Given the description of an element on the screen output the (x, y) to click on. 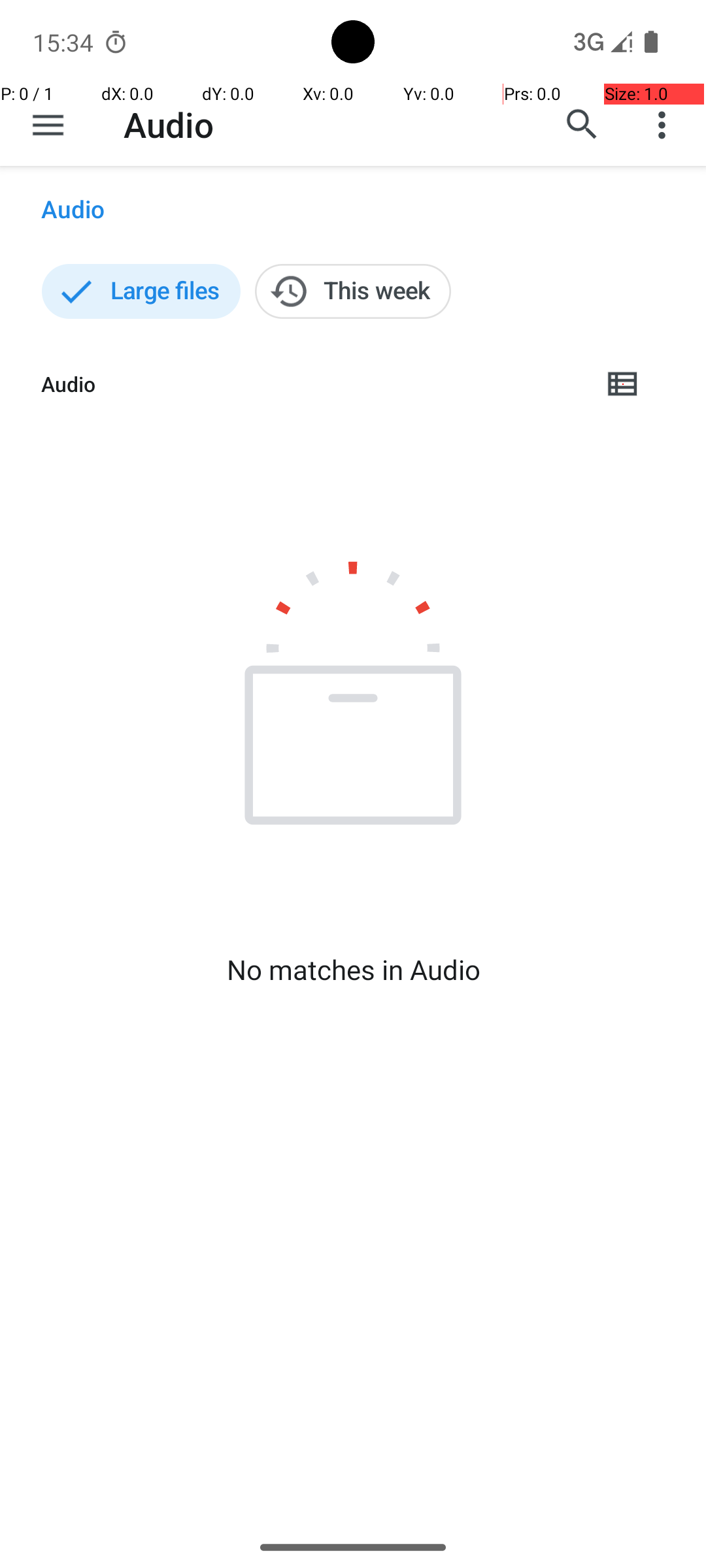
No matches in Audio Element type: android.widget.TextView (352, 968)
